Given the description of an element on the screen output the (x, y) to click on. 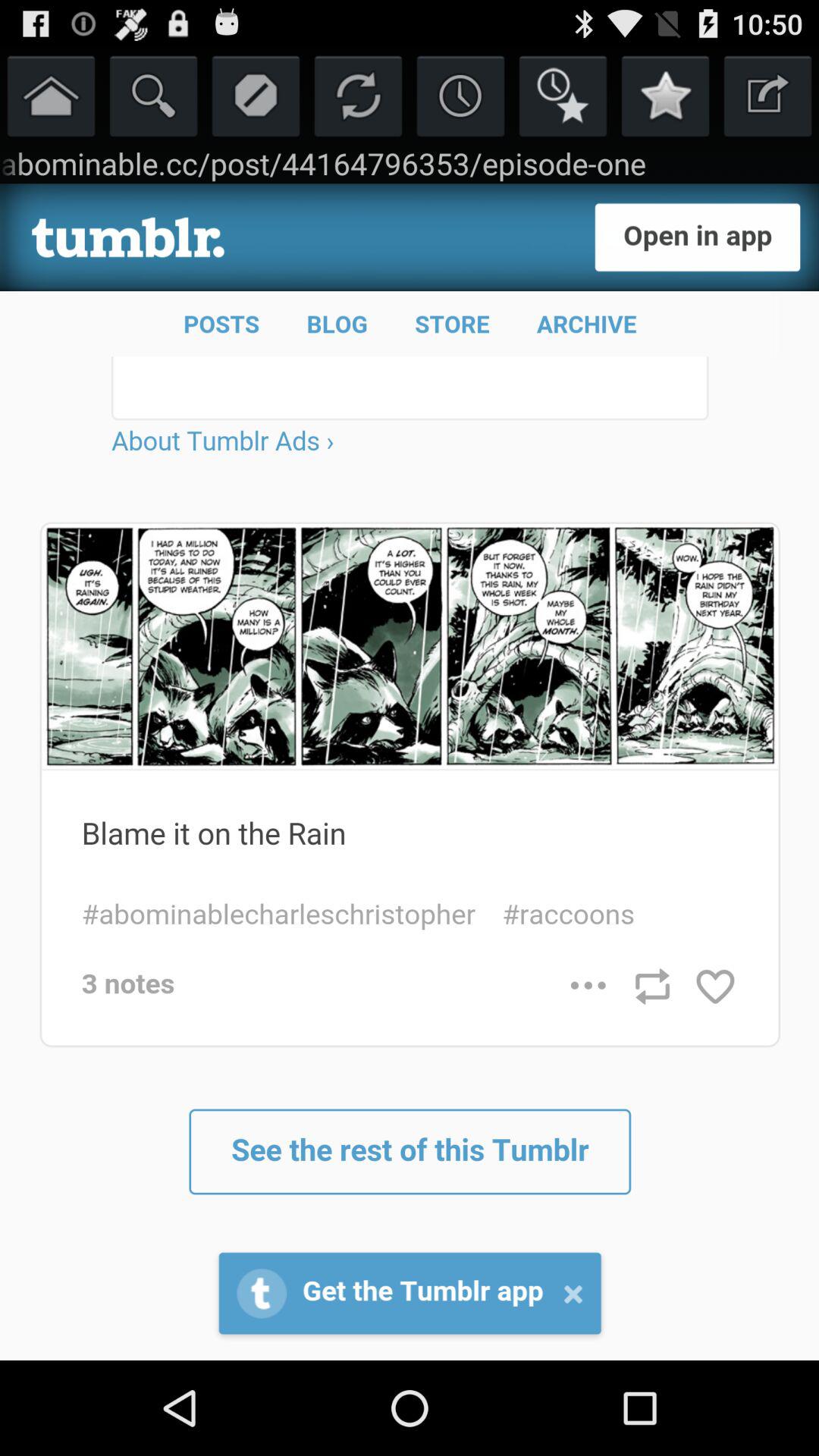
open in new tab (767, 95)
